Given the description of an element on the screen output the (x, y) to click on. 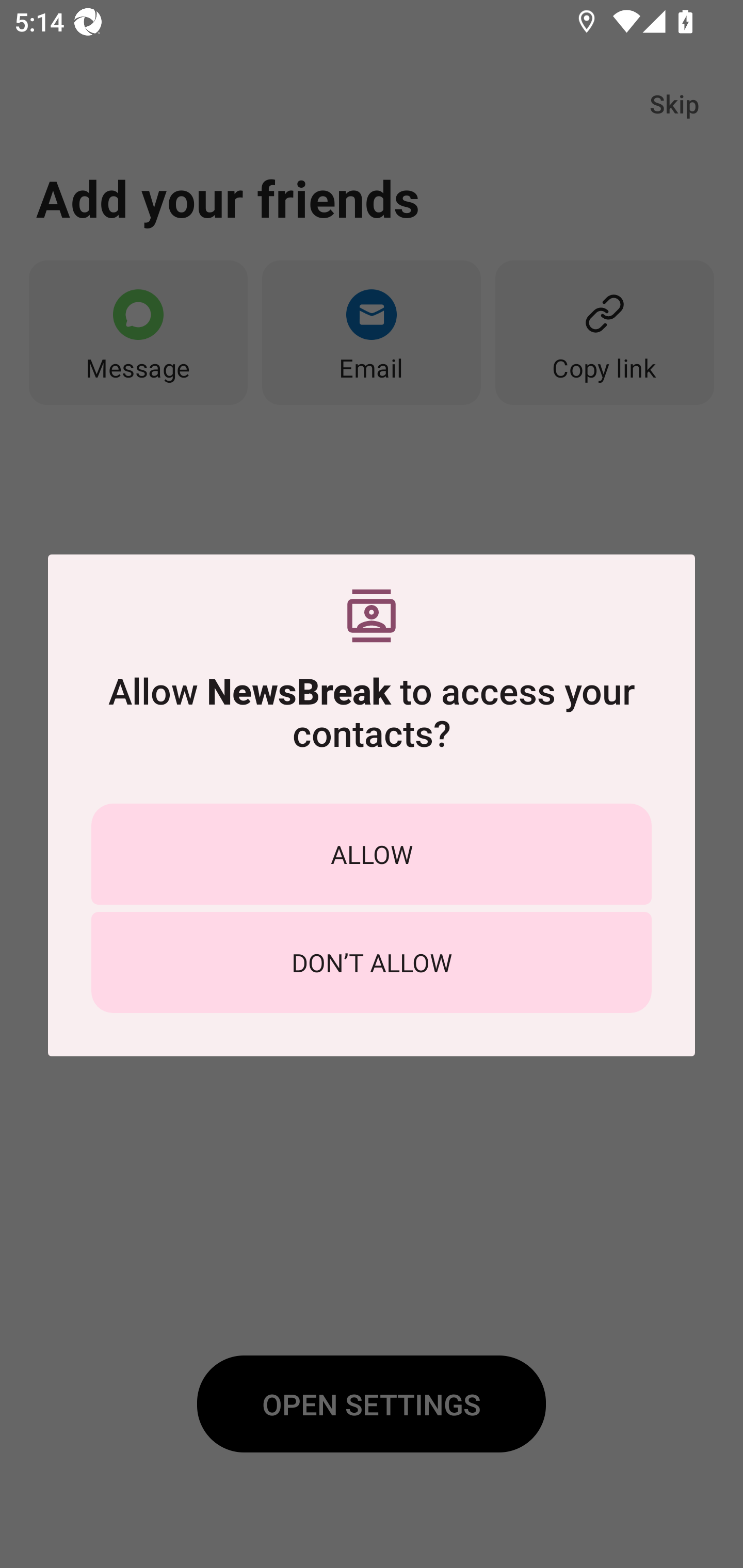
ALLOW (371, 853)
DON’T ALLOW (371, 962)
